Given the description of an element on the screen output the (x, y) to click on. 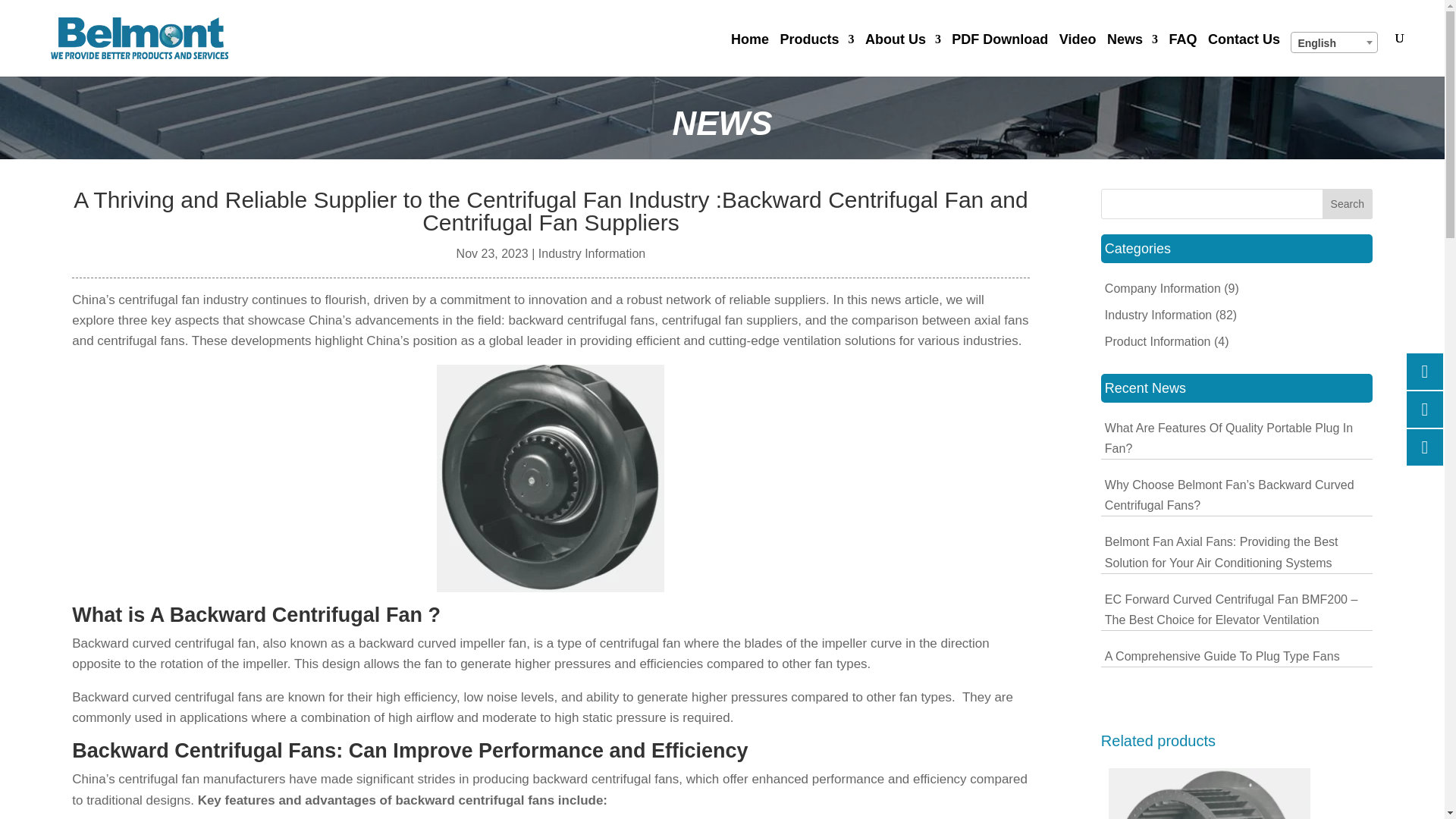
English (1334, 43)
FAQ (1182, 55)
News (1131, 55)
Home (749, 55)
Video (1077, 55)
Contact Us (1243, 55)
About Us (902, 55)
Products (815, 55)
Search (1347, 204)
PDF Download (1000, 55)
